Given the description of an element on the screen output the (x, y) to click on. 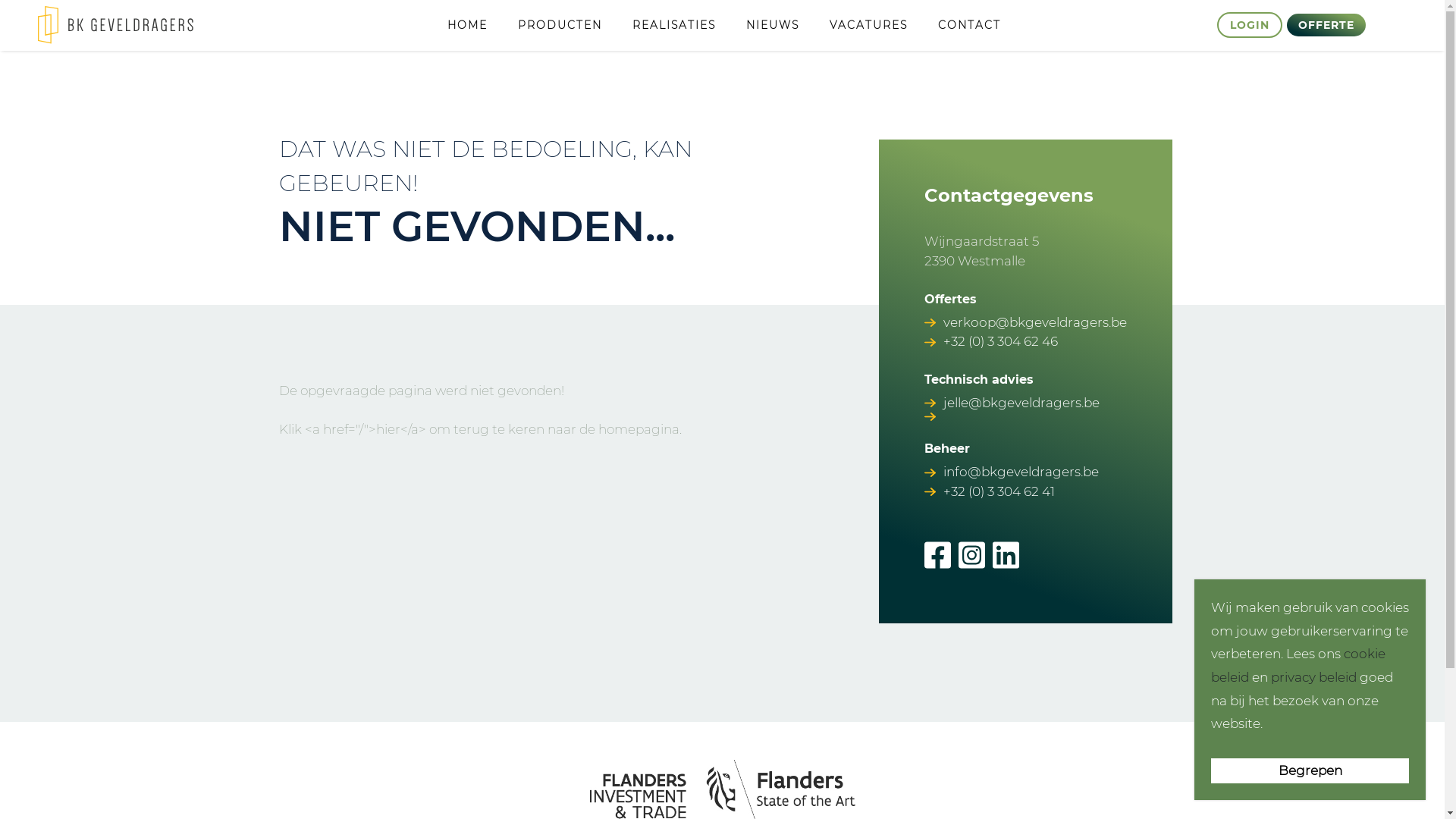
REALISATIES Element type: text (673, 24)
NIEUWS Element type: text (772, 24)
+32 (0) 3 304 62 46 Element type: text (1000, 341)
PRODUCTEN Element type: text (559, 24)
HOME Element type: text (467, 24)
info@bkgeveldragers.be Element type: text (1020, 472)
+32 (0) 3 304 62 41 Element type: text (998, 492)
OFFERTE Element type: text (1325, 24)
CONTACT Element type: text (969, 24)
cookie beleid Element type: text (1298, 665)
verkoop@bkgeveldragers.be Element type: text (1034, 322)
privacy beleid Element type: text (1313, 676)
VACATURES Element type: text (868, 24)
jelle@bkgeveldragers.be Element type: text (1021, 403)
LOGIN Element type: text (1249, 24)
Begrepen Element type: text (1309, 770)
